Given the description of an element on the screen output the (x, y) to click on. 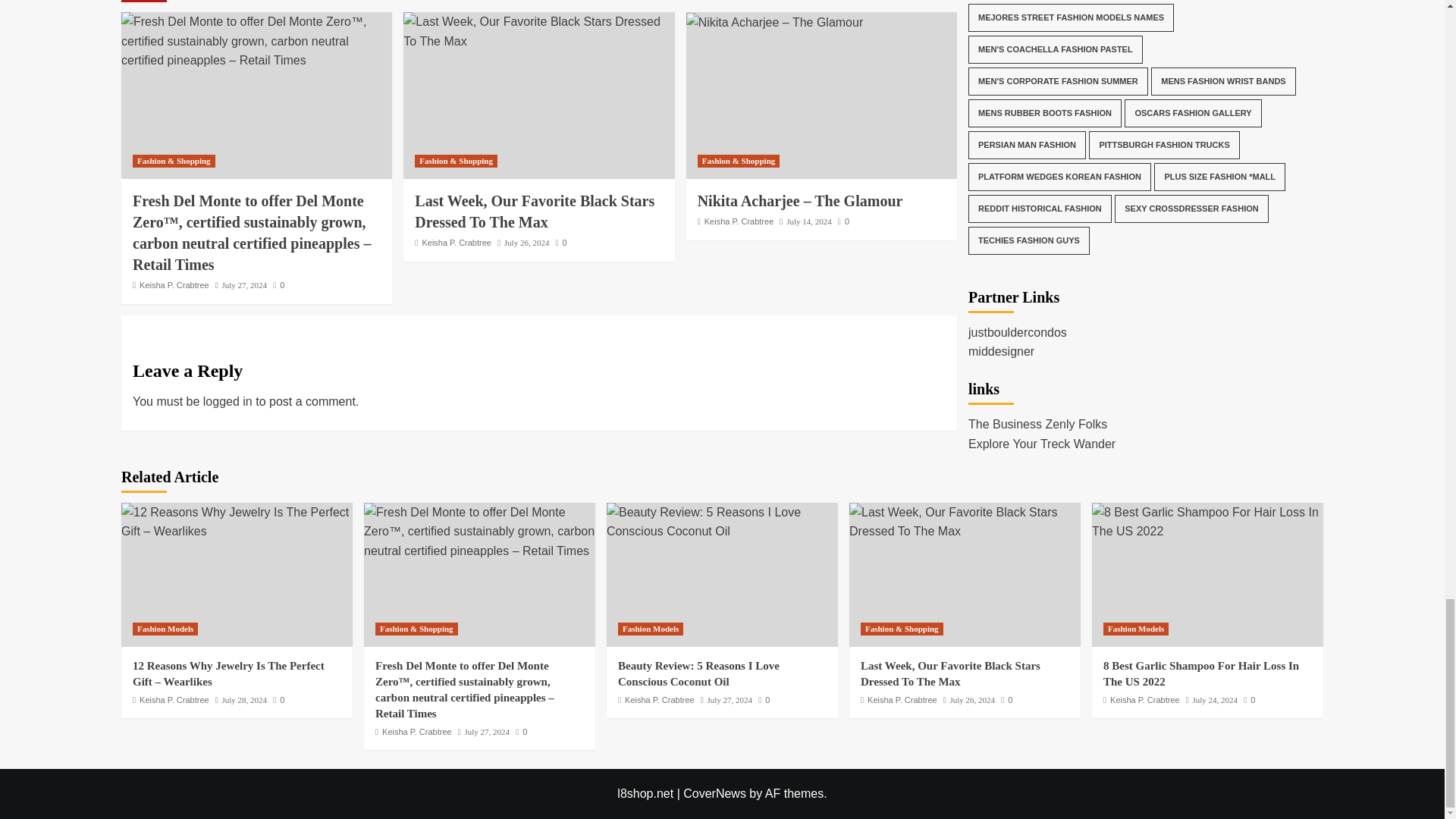
Last Week, Our Favorite Black Stars Dressed To The Max (538, 31)
